Given the description of an element on the screen output the (x, y) to click on. 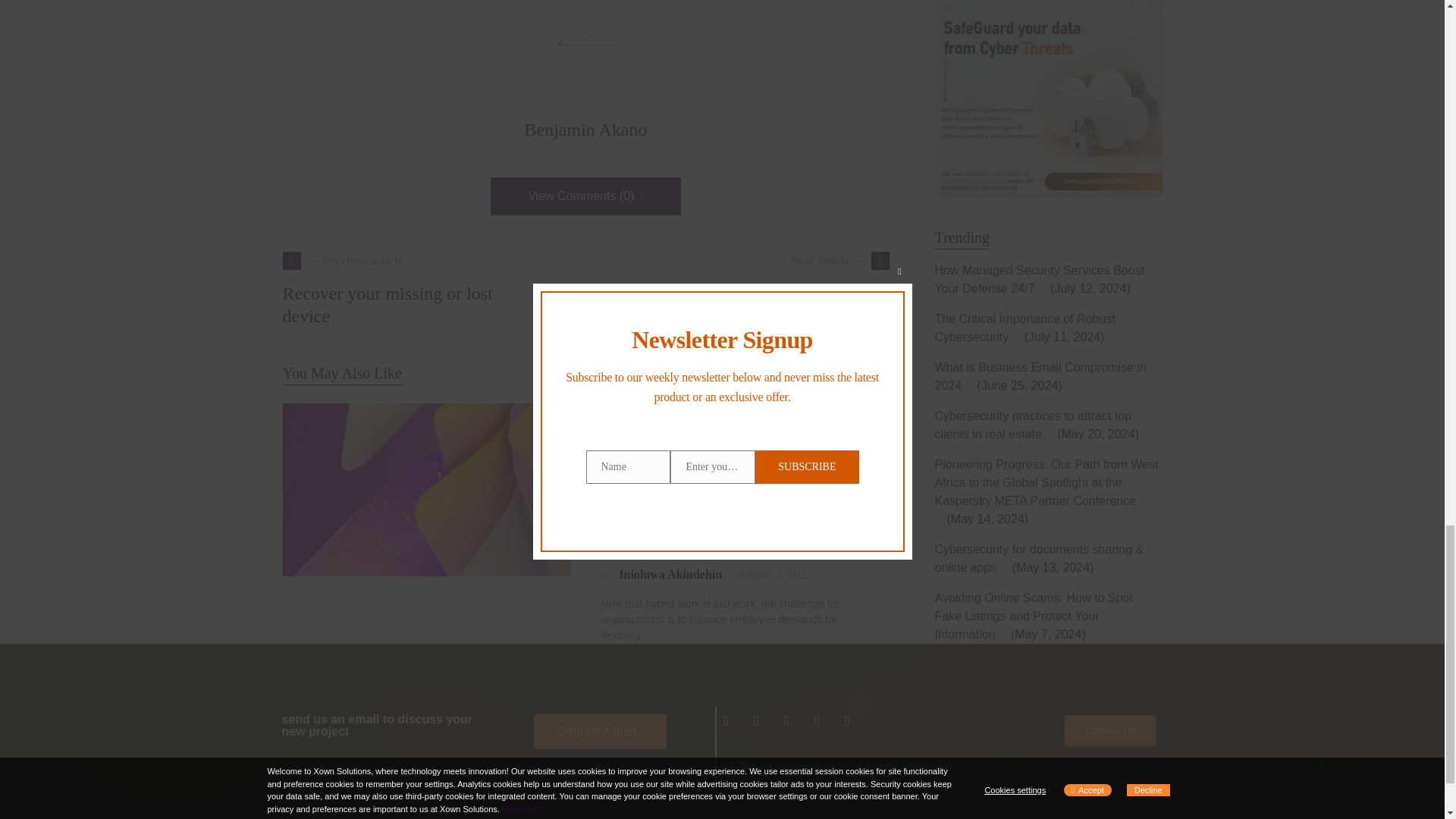
Inioluwa Akindehin (670, 574)
View all posts by Inioluwa Akindehin (670, 574)
Benjamin Akano (664, 412)
